Given the description of an element on the screen output the (x, y) to click on. 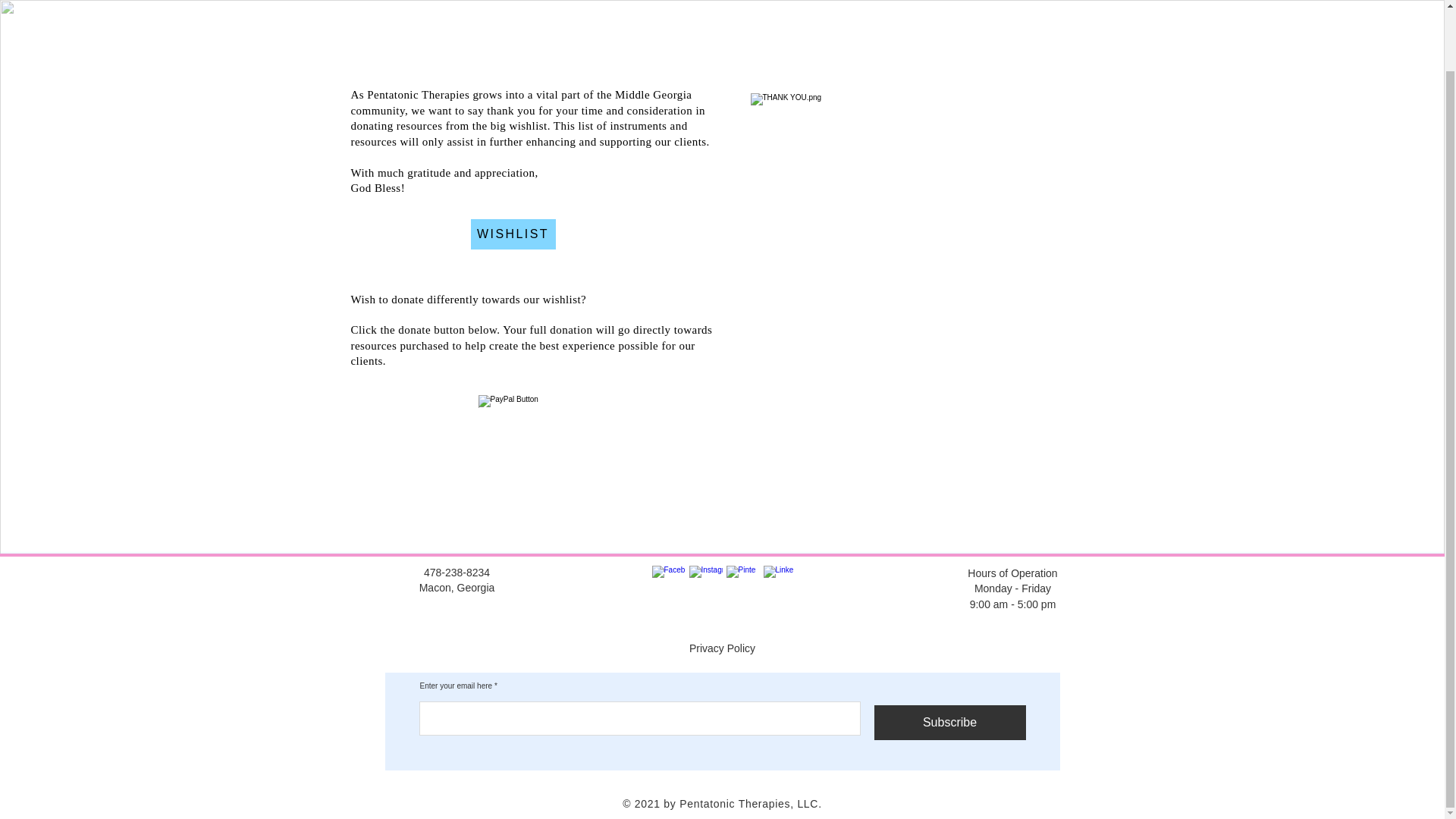
478-238-8234 (456, 572)
Privacy Policy (721, 648)
Monday - Friday (1012, 588)
Subscribe (949, 722)
WISHLIST (512, 234)
